Given the description of an element on the screen output the (x, y) to click on. 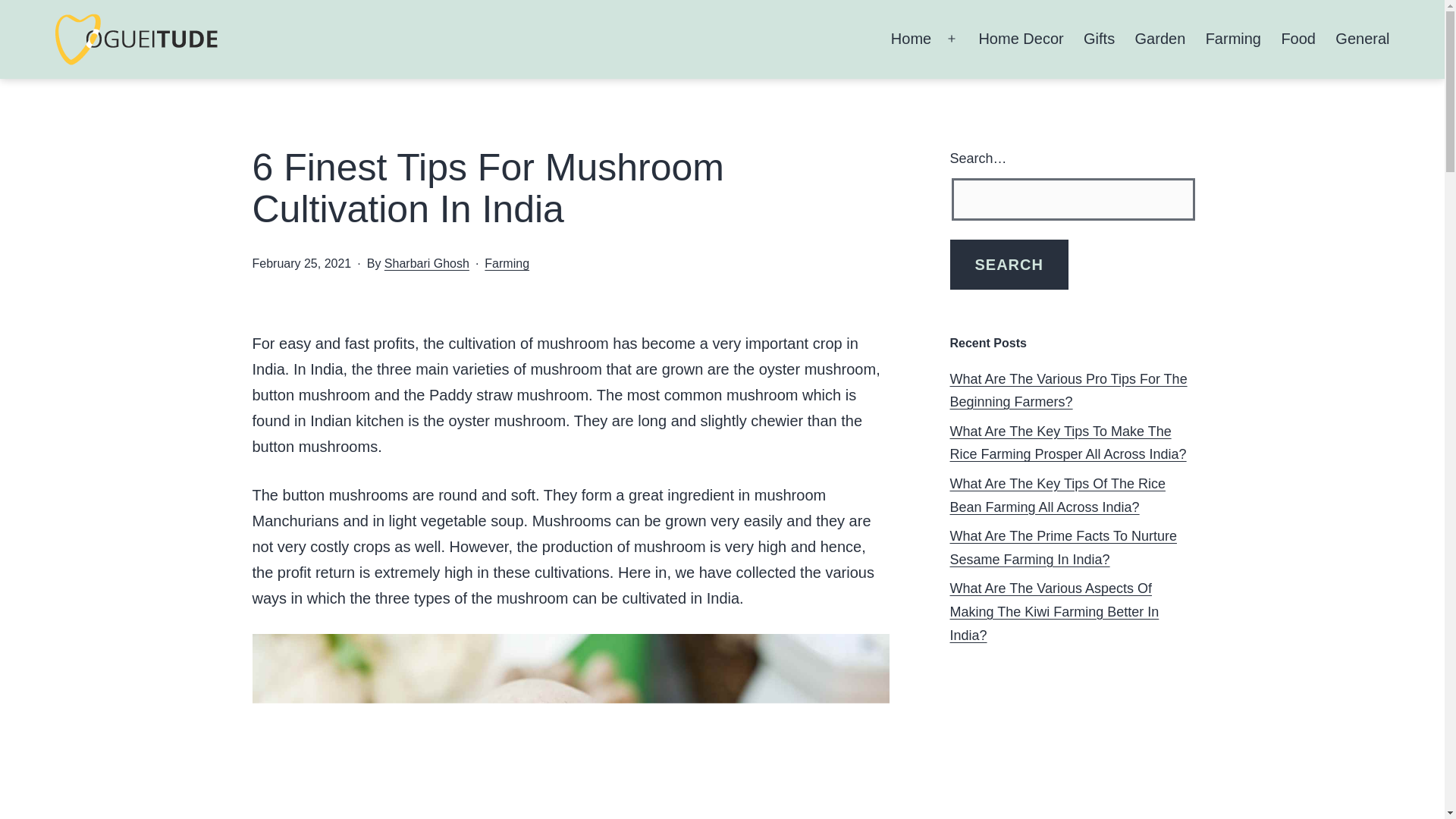
Food (1297, 39)
Farming (506, 263)
What Are The Various Pro Tips For The Beginning Farmers? (1067, 390)
Gifts (1099, 39)
Search (1008, 264)
What Are The Prime Facts To Nurture Sesame Farming In India? (1062, 547)
Garden (1159, 39)
Search (1008, 264)
Open menu (951, 39)
General (1361, 39)
Search (1008, 264)
Home (911, 39)
Sharbari Ghosh (426, 263)
